Given the description of an element on the screen output the (x, y) to click on. 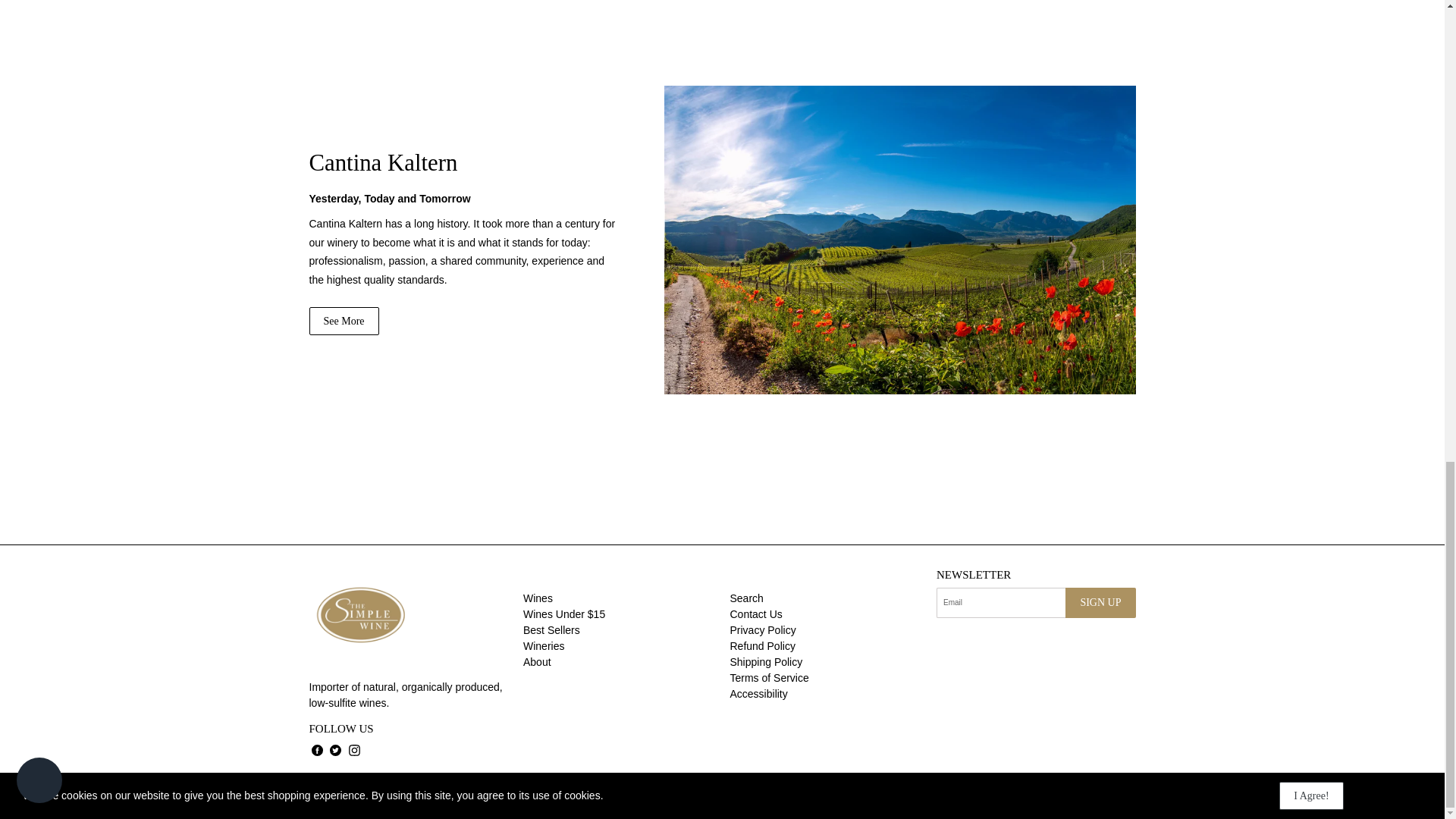
The Simple Wine on Twitter (335, 749)
The Simple Wine on Facebook (316, 749)
The Simple Wine on Instagram (354, 749)
discover (932, 788)
visa (1114, 788)
diners club (977, 788)
paypal (1024, 788)
